Given the description of an element on the screen output the (x, y) to click on. 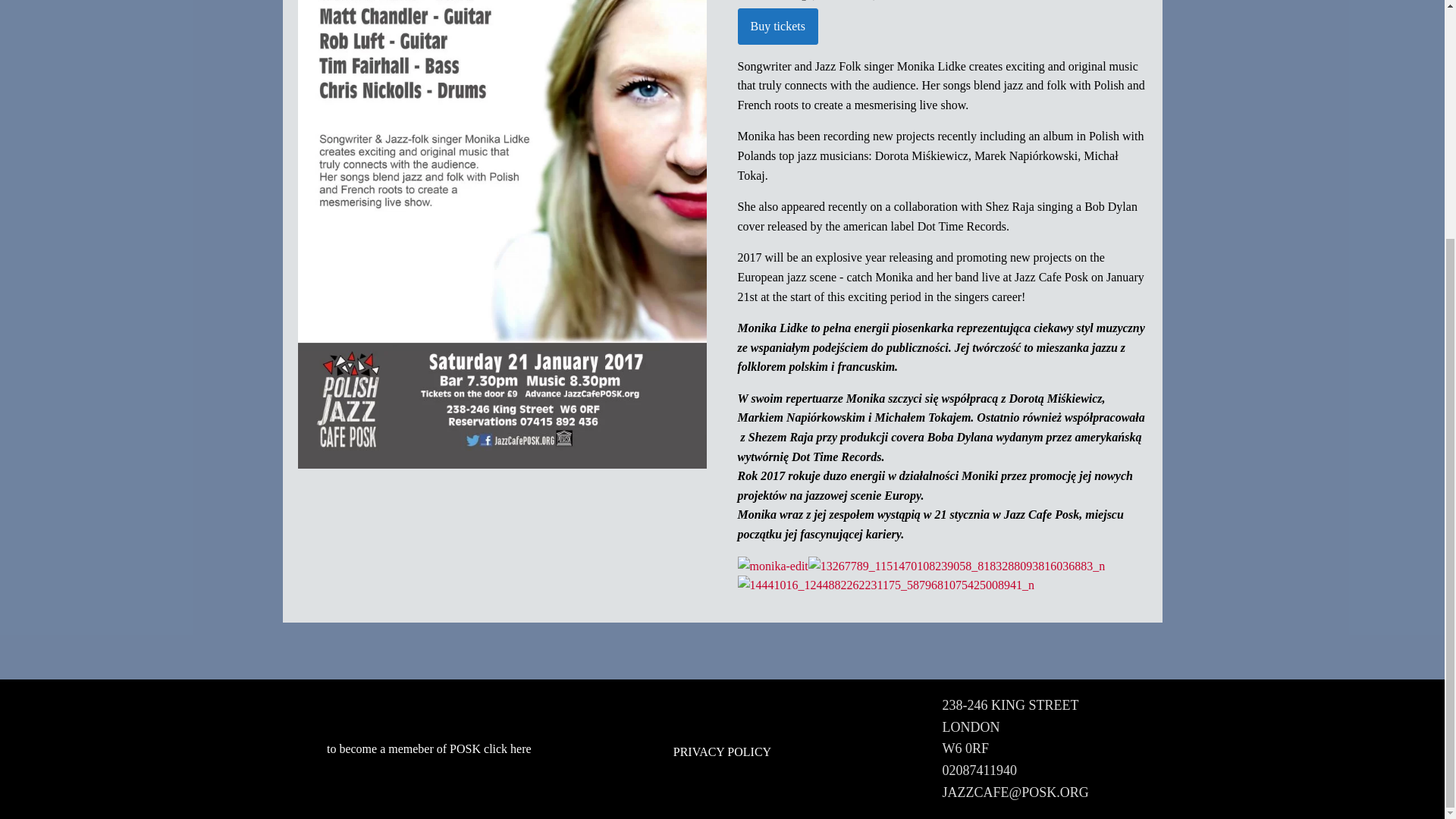
PRIVACY POLICY (721, 752)
to become a memeber of POSK click here (428, 749)
Buy tickets (776, 26)
